Given the description of an element on the screen output the (x, y) to click on. 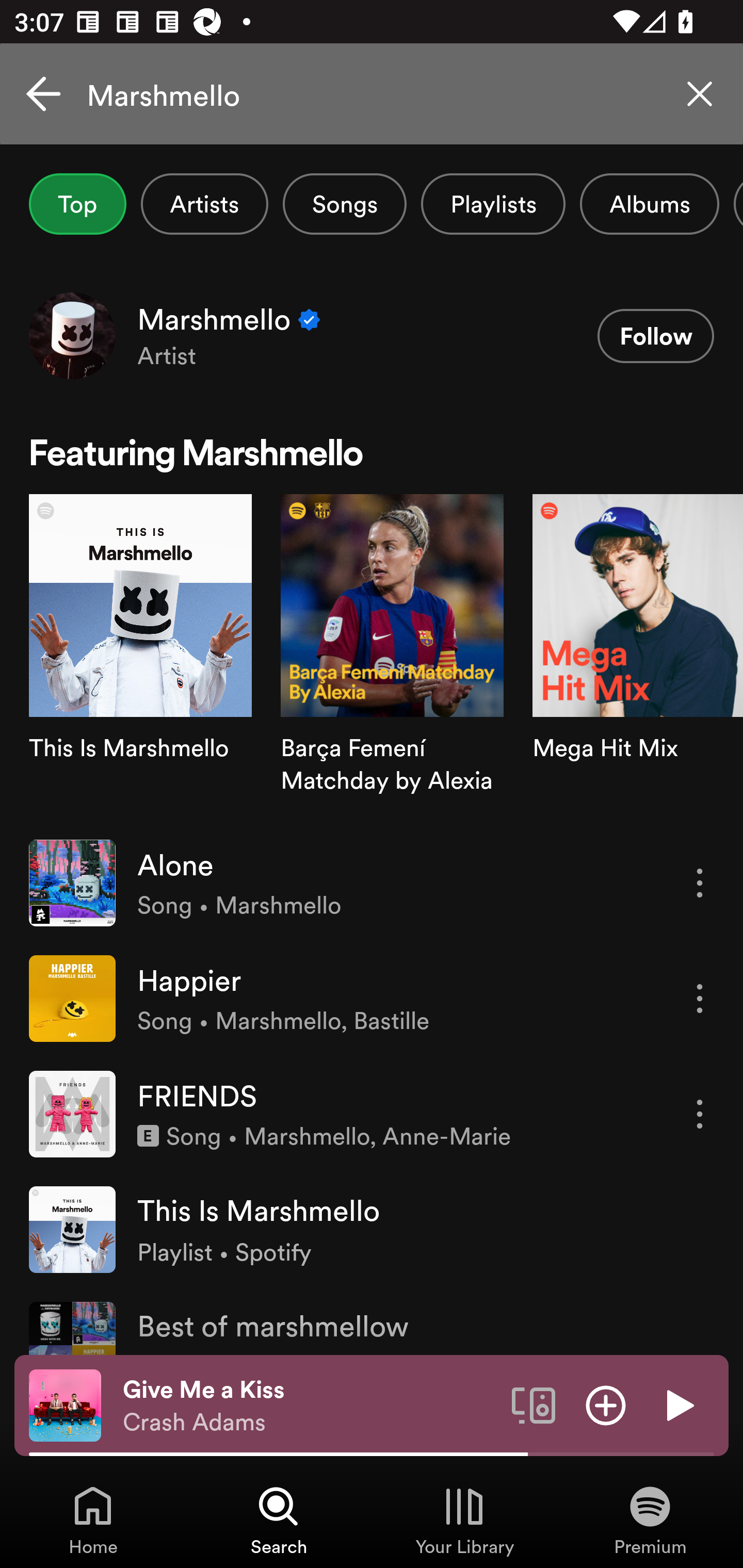
Marshmello (371, 93)
Cancel (43, 93)
Clear search query (699, 93)
Top (77, 203)
Artists (204, 203)
Songs (344, 203)
Playlists (493, 203)
Albums (649, 203)
Marshmello Verified Artist Follow Follow (371, 335)
Follow (655, 335)
Search card image This Is Marshmello (139, 658)
Search card image Barça Femení Matchday by Alexia (391, 658)
Search card image Mega Hit Mix (637, 658)
More options for song Alone (699, 883)
More options for song Happier (699, 997)
More options for song FRIENDS (699, 1113)
This Is Marshmello Playlist • Spotify (371, 1229)
Best of marshmellow Playlist (371, 1320)
Give Me a Kiss Crash Adams (309, 1405)
The cover art of the currently playing track (64, 1404)
Connect to a device. Opens the devices menu (533, 1404)
Add item (605, 1404)
Play (677, 1404)
Home, Tab 1 of 4 Home Home (92, 1519)
Search, Tab 2 of 4 Search Search (278, 1519)
Your Library, Tab 3 of 4 Your Library Your Library (464, 1519)
Premium, Tab 4 of 4 Premium Premium (650, 1519)
